Given the description of an element on the screen output the (x, y) to click on. 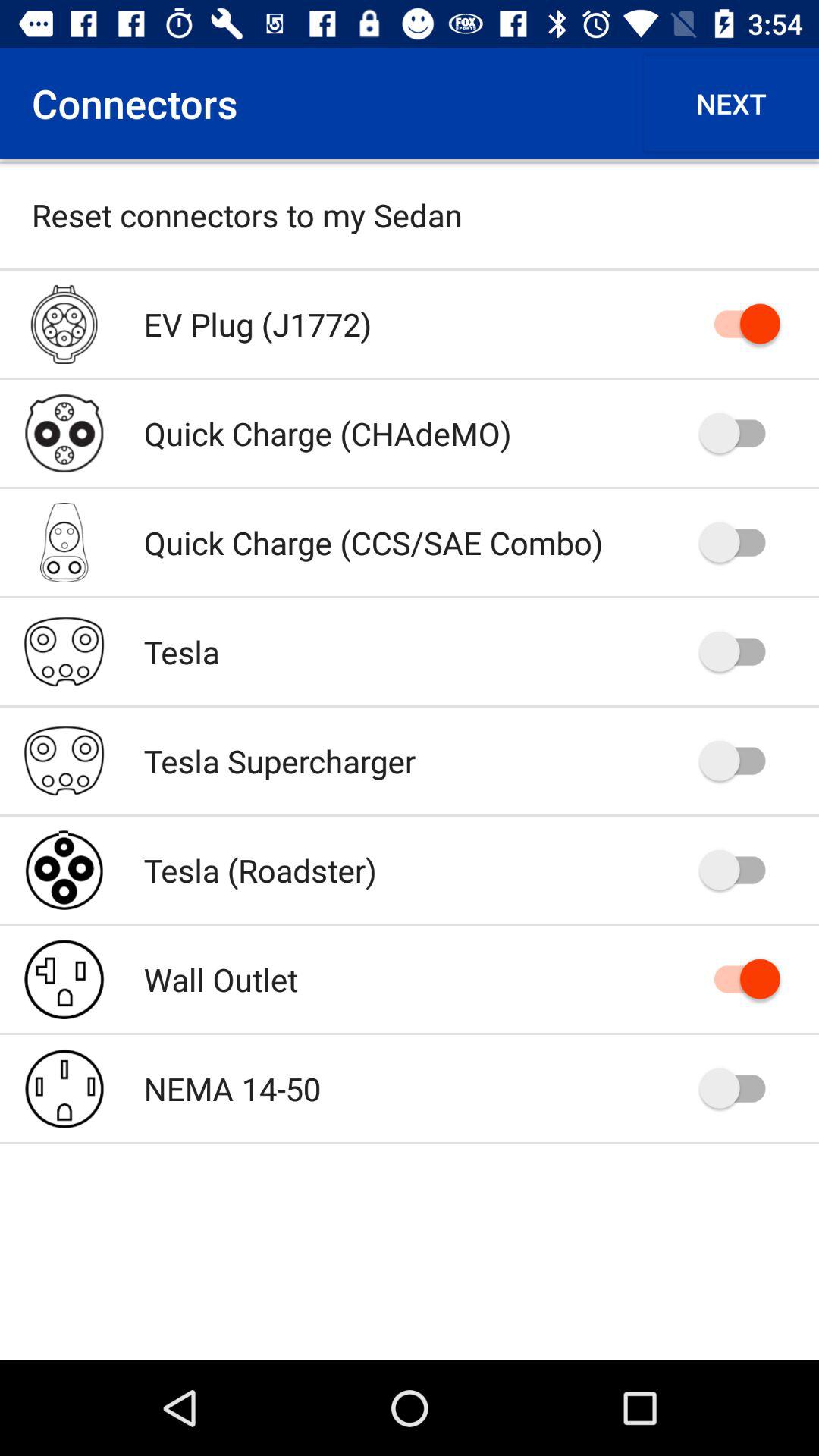
launch next (731, 103)
